Given the description of an element on the screen output the (x, y) to click on. 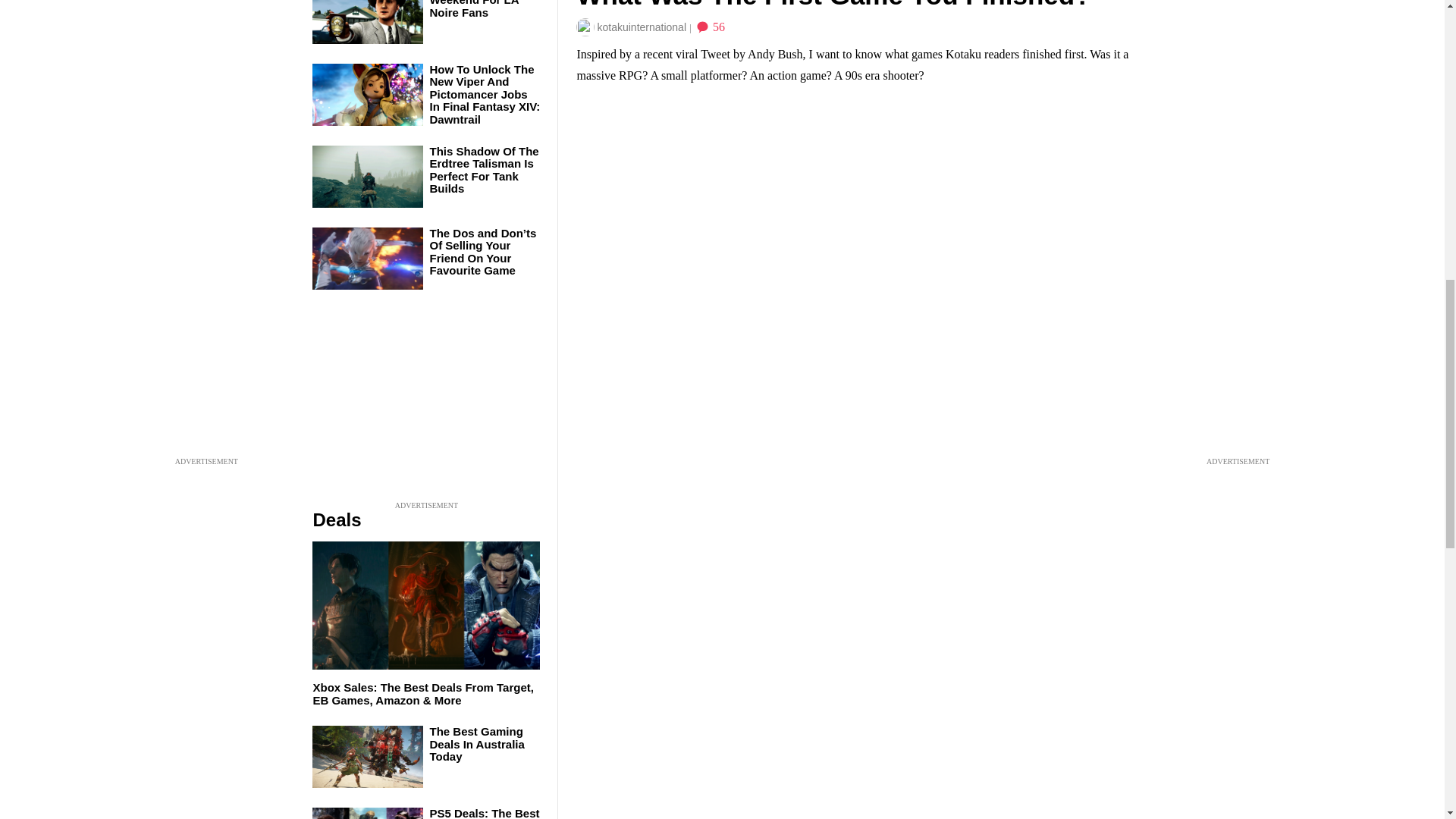
3rd party ad content (426, 403)
